Given the description of an element on the screen output the (x, y) to click on. 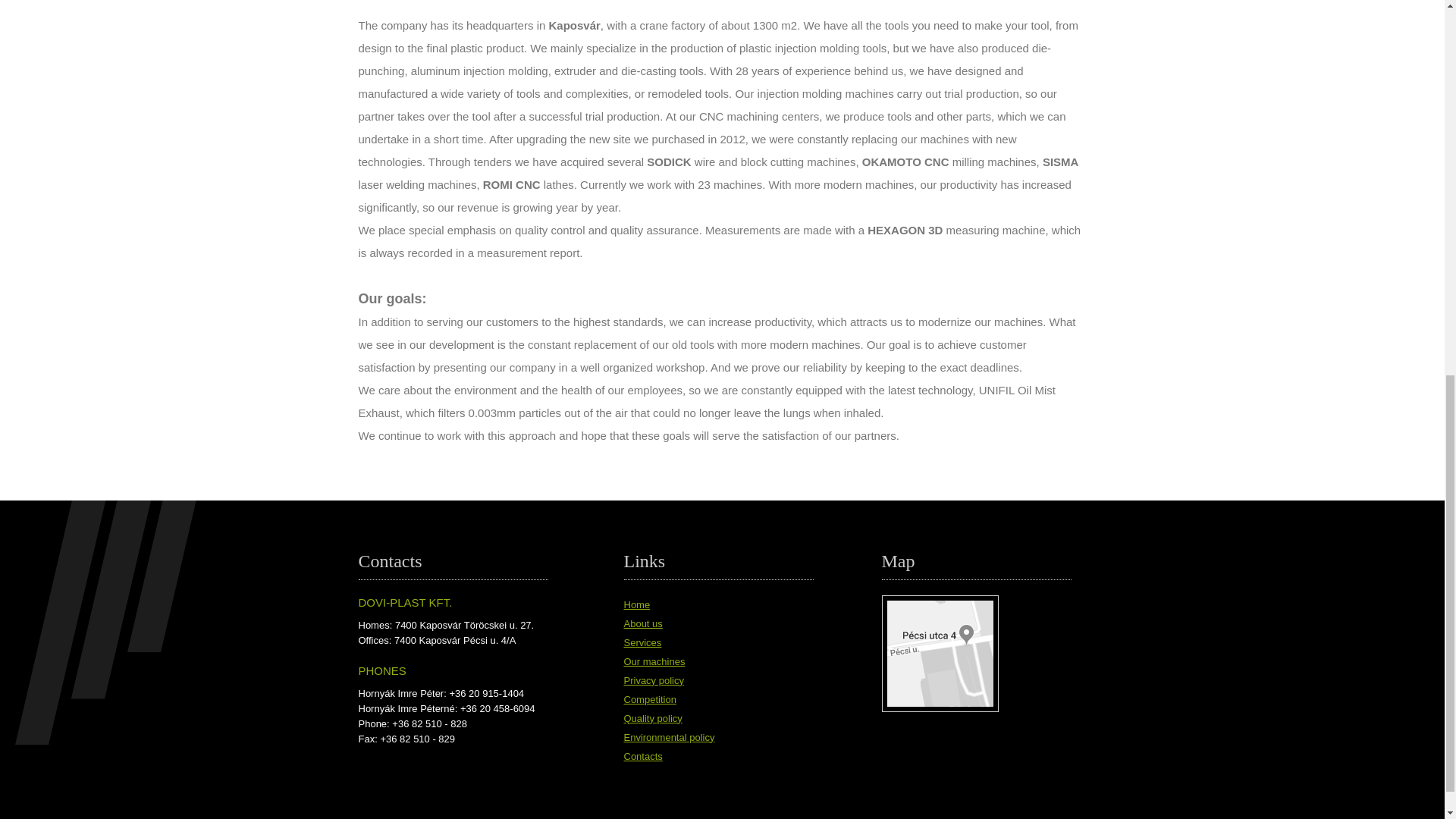
Privacy policy (652, 679)
Services (642, 641)
About us (642, 623)
Contacts (642, 755)
Competition (649, 699)
Quality policy (652, 717)
Our machines (653, 661)
Home (636, 603)
Environmental policy (668, 737)
